Given the description of an element on the screen output the (x, y) to click on. 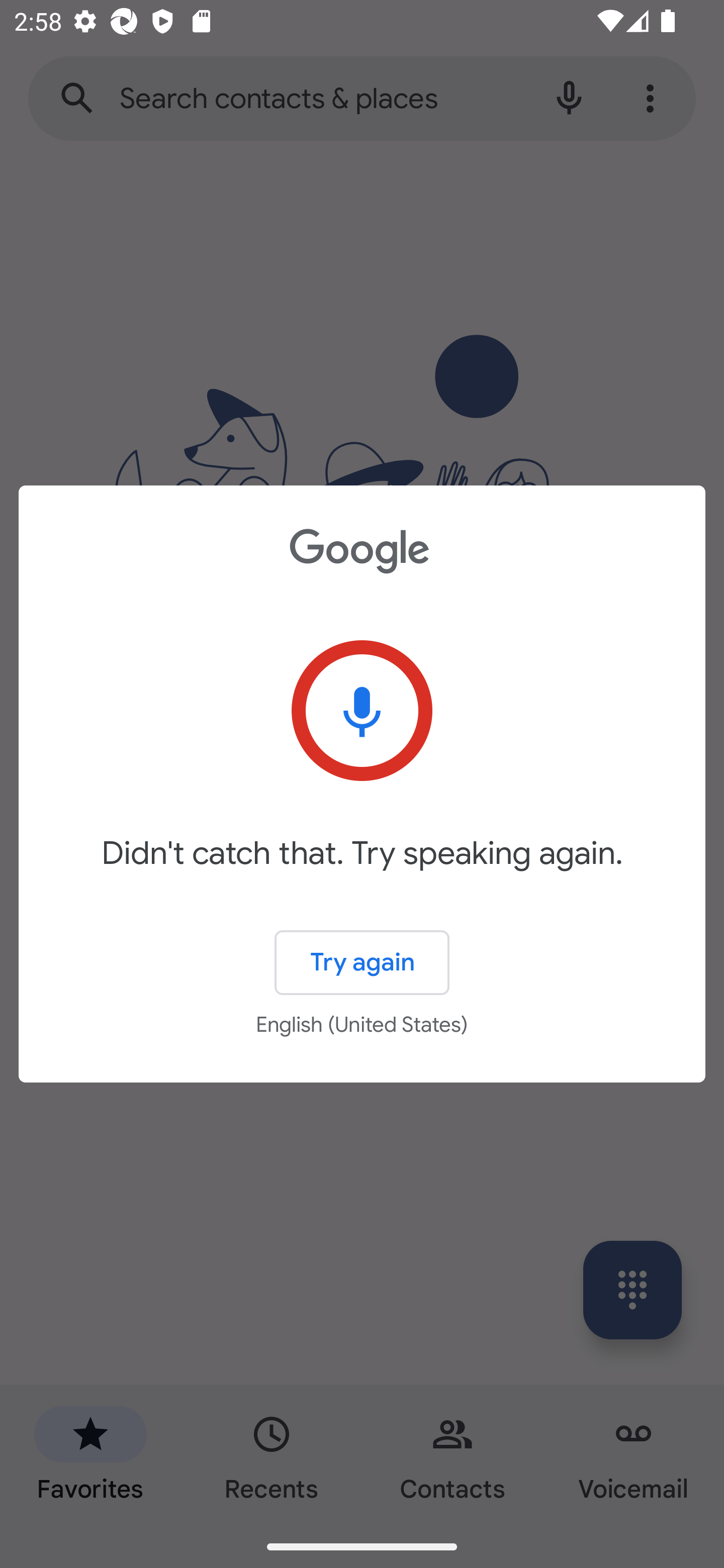
Tap to try again (361, 710)
Try again (361, 962)
